Given the description of an element on the screen output the (x, y) to click on. 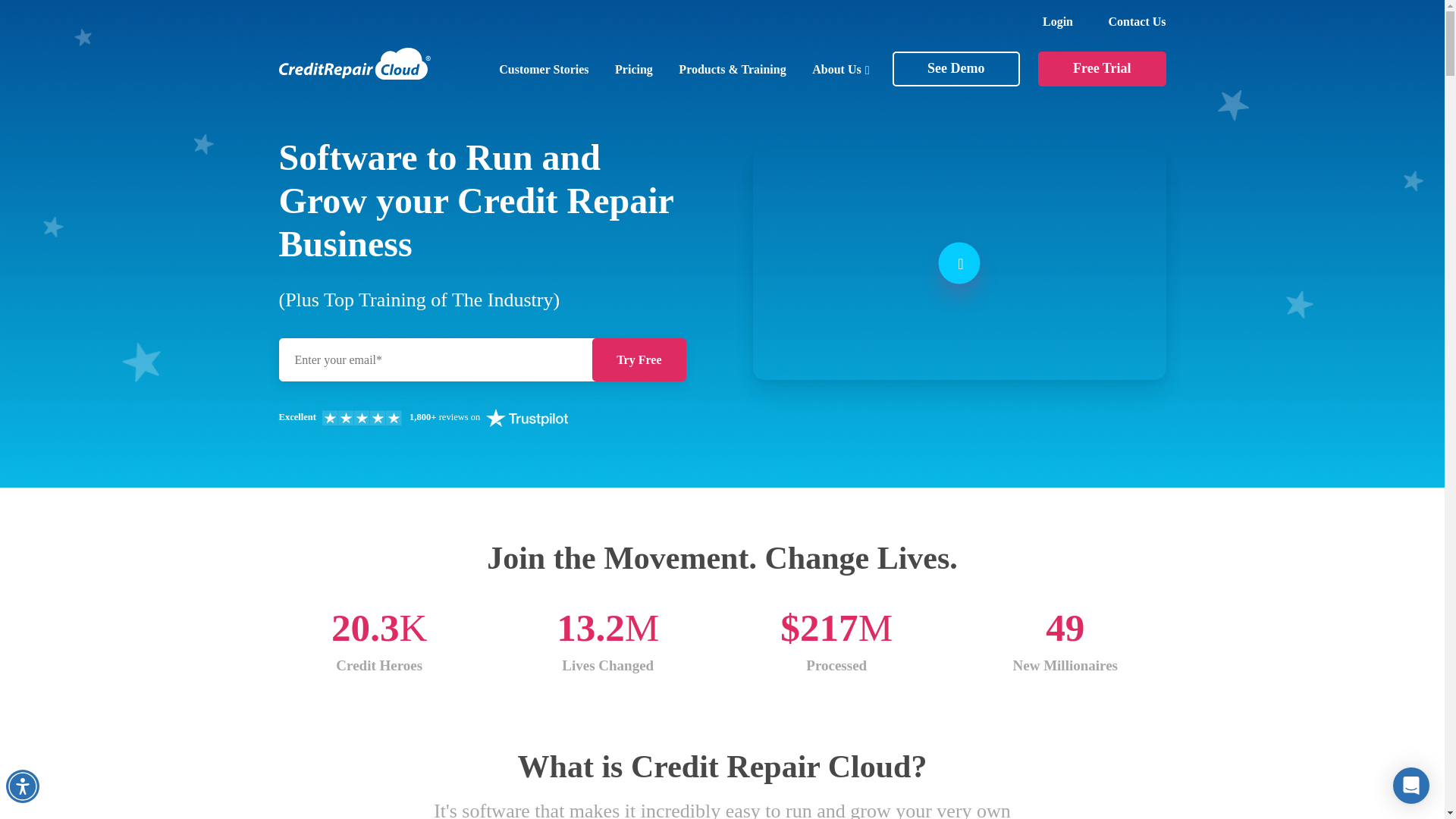
Free Trial (1102, 68)
About Us (840, 69)
Contact Us (1137, 21)
Try Free (638, 359)
Try Free (638, 359)
Customer Stories (543, 69)
Pricing (633, 69)
Free Trial (1102, 68)
Login (1057, 21)
Accessibility Menu (22, 786)
See Demo (955, 68)
See Demo (955, 68)
